Given the description of an element on the screen output the (x, y) to click on. 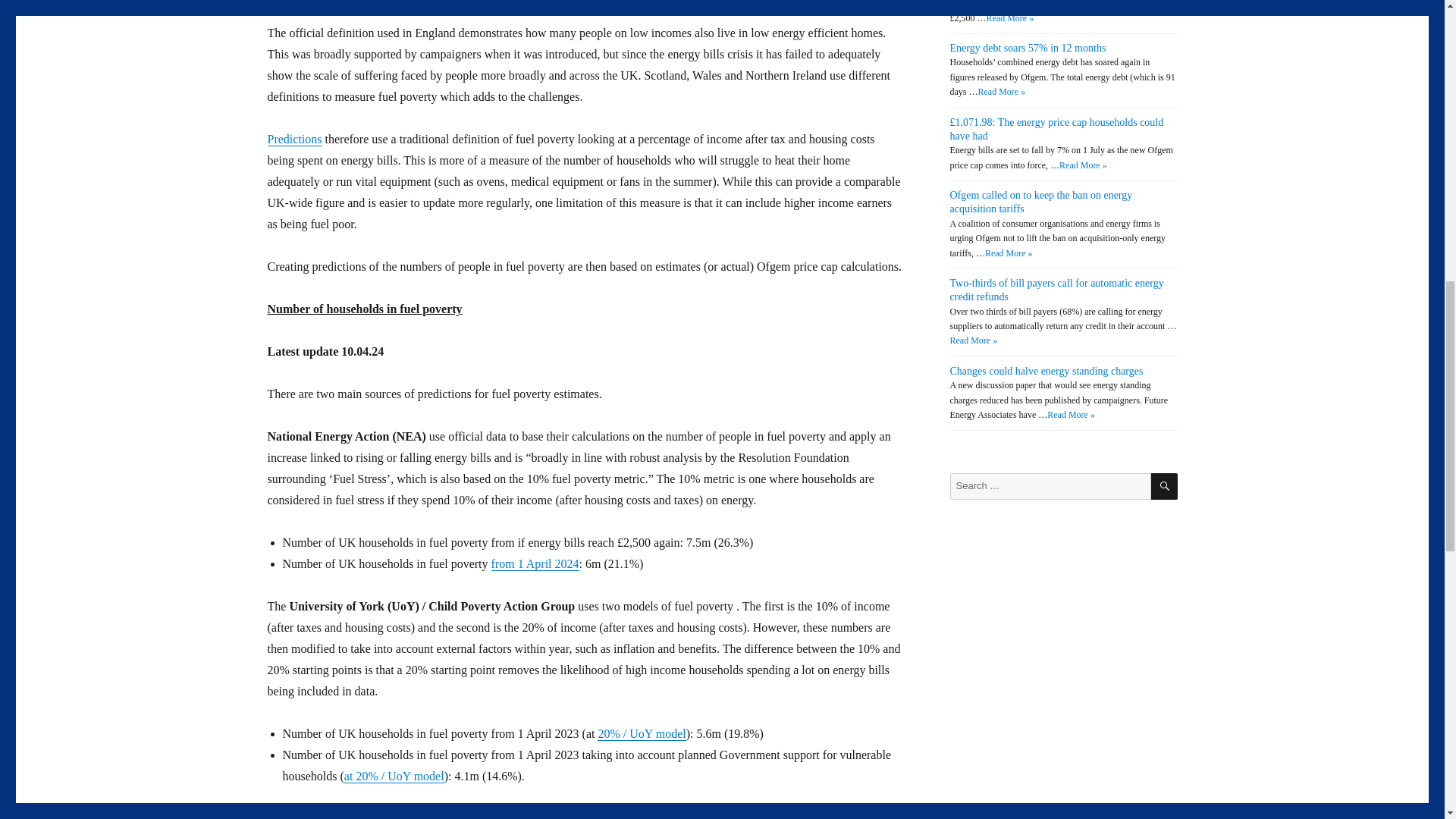
from 1 April 2024 (535, 563)
Changes could halve energy standing charges (1045, 370)
Predictions (293, 138)
SEARCH (1164, 486)
latest data (359, 815)
